Given the description of an element on the screen output the (x, y) to click on. 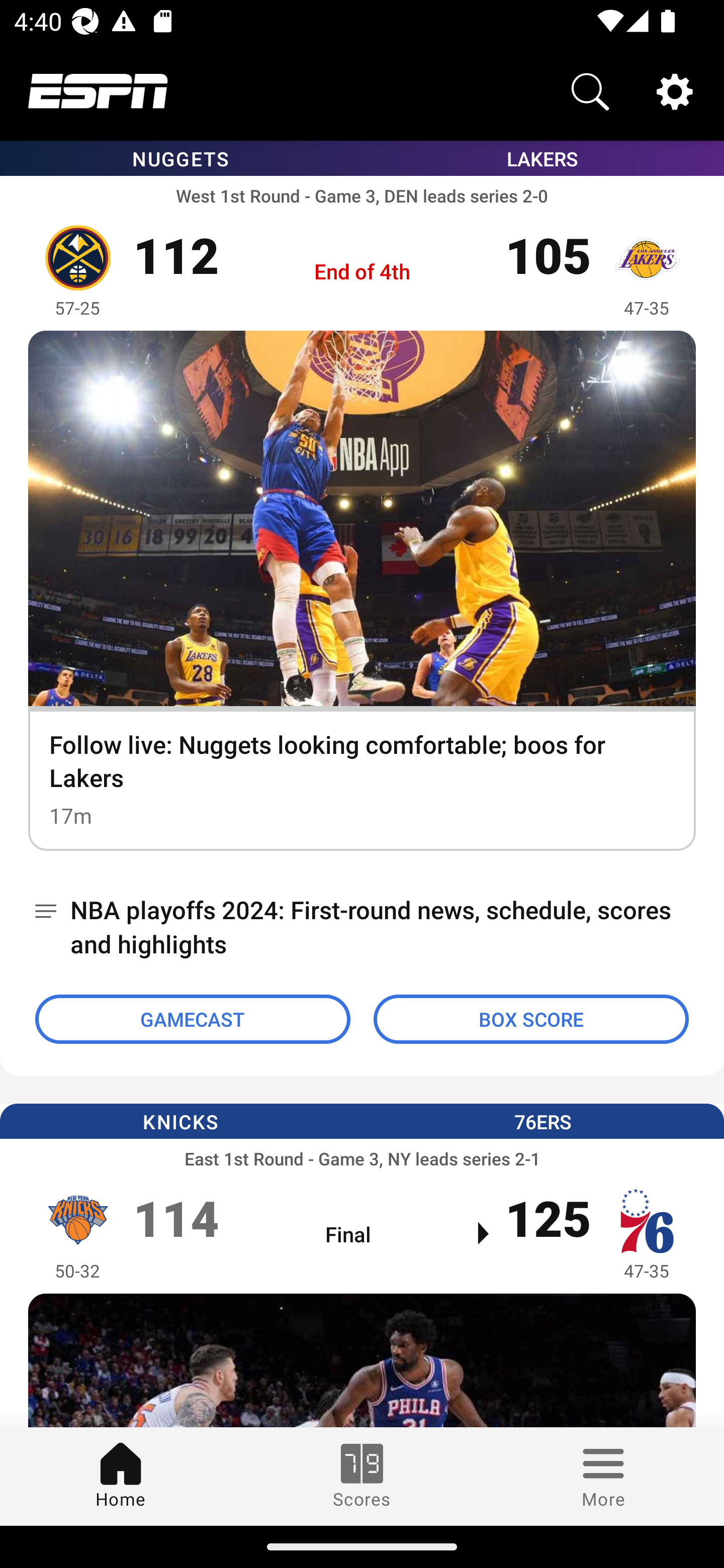
Search (590, 90)
Settings (674, 90)
GAMECAST (192, 1019)
BOX SCORE (530, 1019)
Scores (361, 1475)
More (603, 1475)
